Given the description of an element on the screen output the (x, y) to click on. 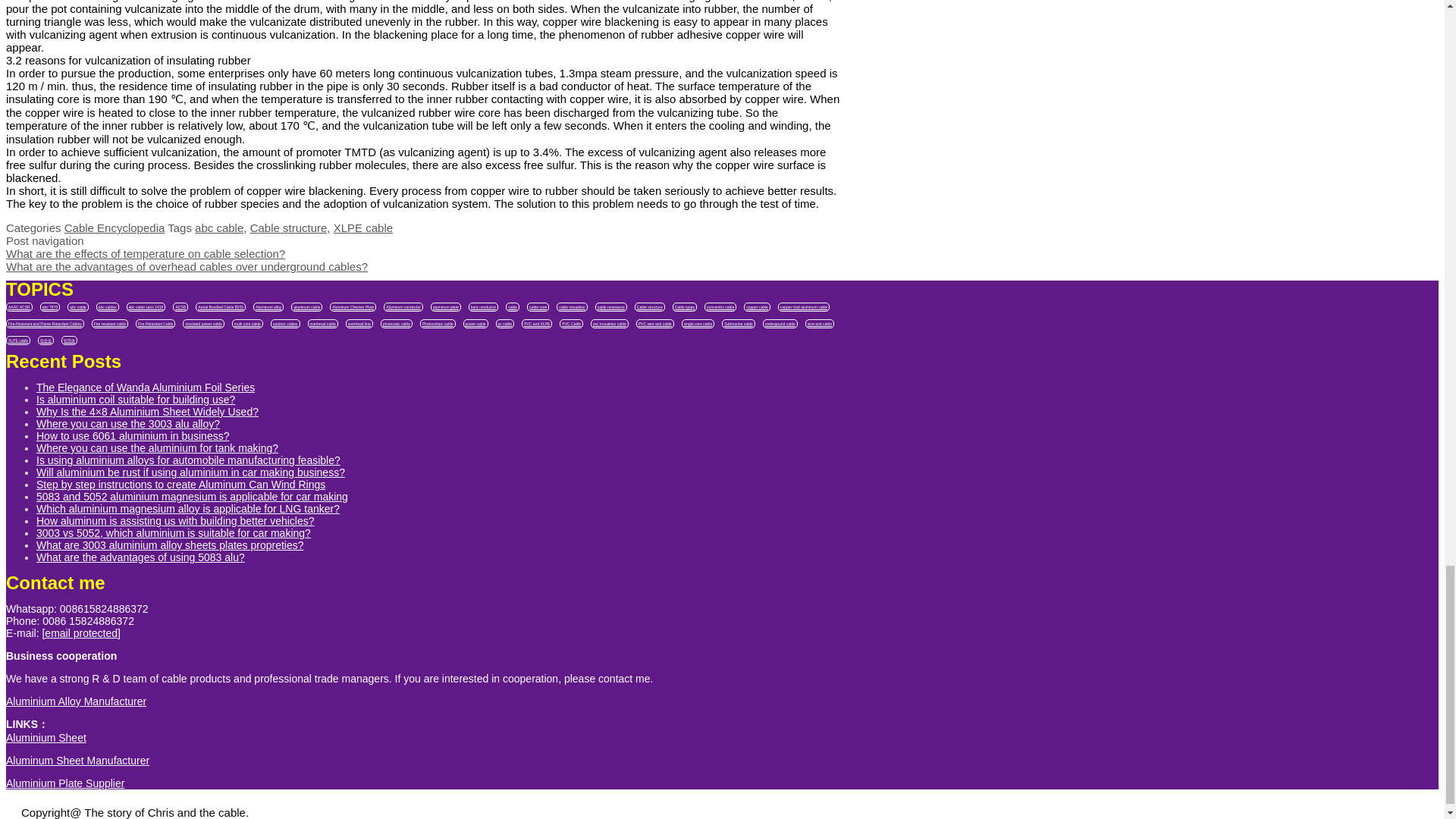
bare conductor (482, 307)
cable insualtion (571, 307)
Cable types (684, 307)
aluminum cable (306, 307)
abc cable (76, 307)
Cable Encyclopedia (114, 227)
abc 7870 (50, 307)
XLPE cable (363, 227)
Cable structure (288, 227)
ACSR (180, 307)
